Given the description of an element on the screen output the (x, y) to click on. 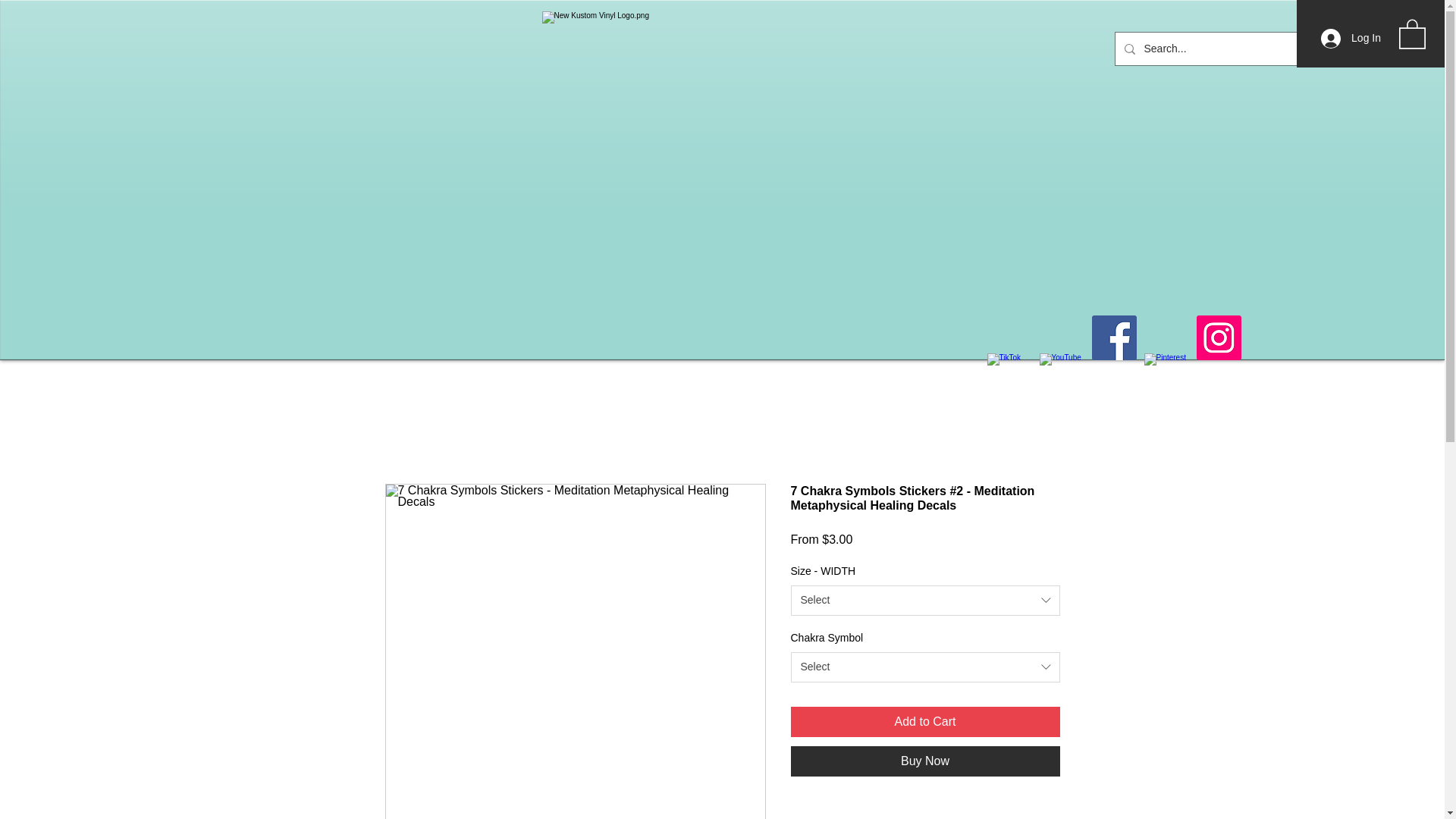
Log In (1350, 38)
Buy Now (924, 761)
Select (924, 600)
Select (924, 666)
Add to Cart (924, 721)
